Given the description of an element on the screen output the (x, y) to click on. 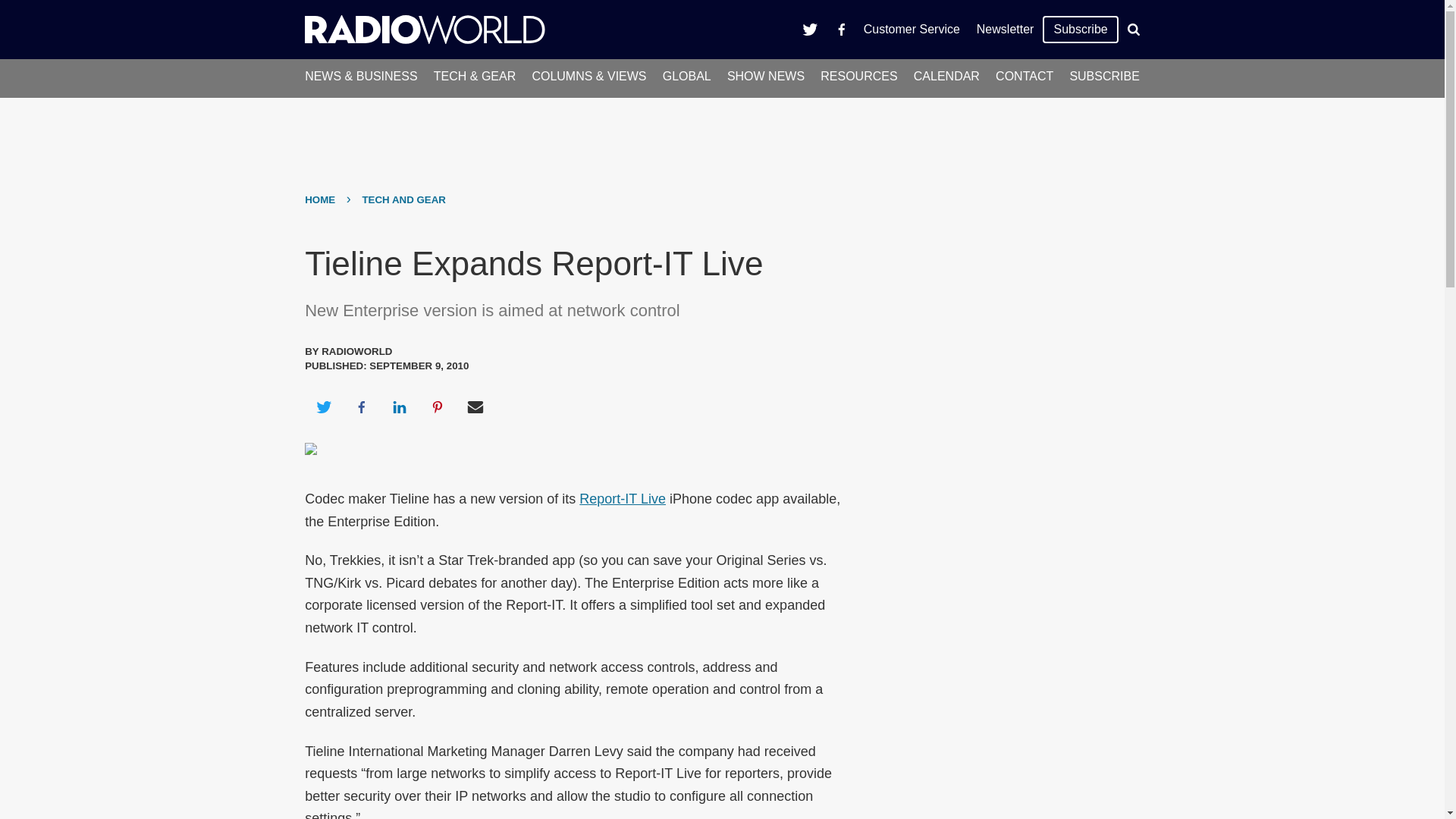
Customer Service (912, 29)
Share on LinkedIn (399, 406)
Share on Pinterest (438, 406)
Share on Twitter (323, 406)
Share via Email (476, 406)
Share on Facebook (361, 406)
